Given the description of an element on the screen output the (x, y) to click on. 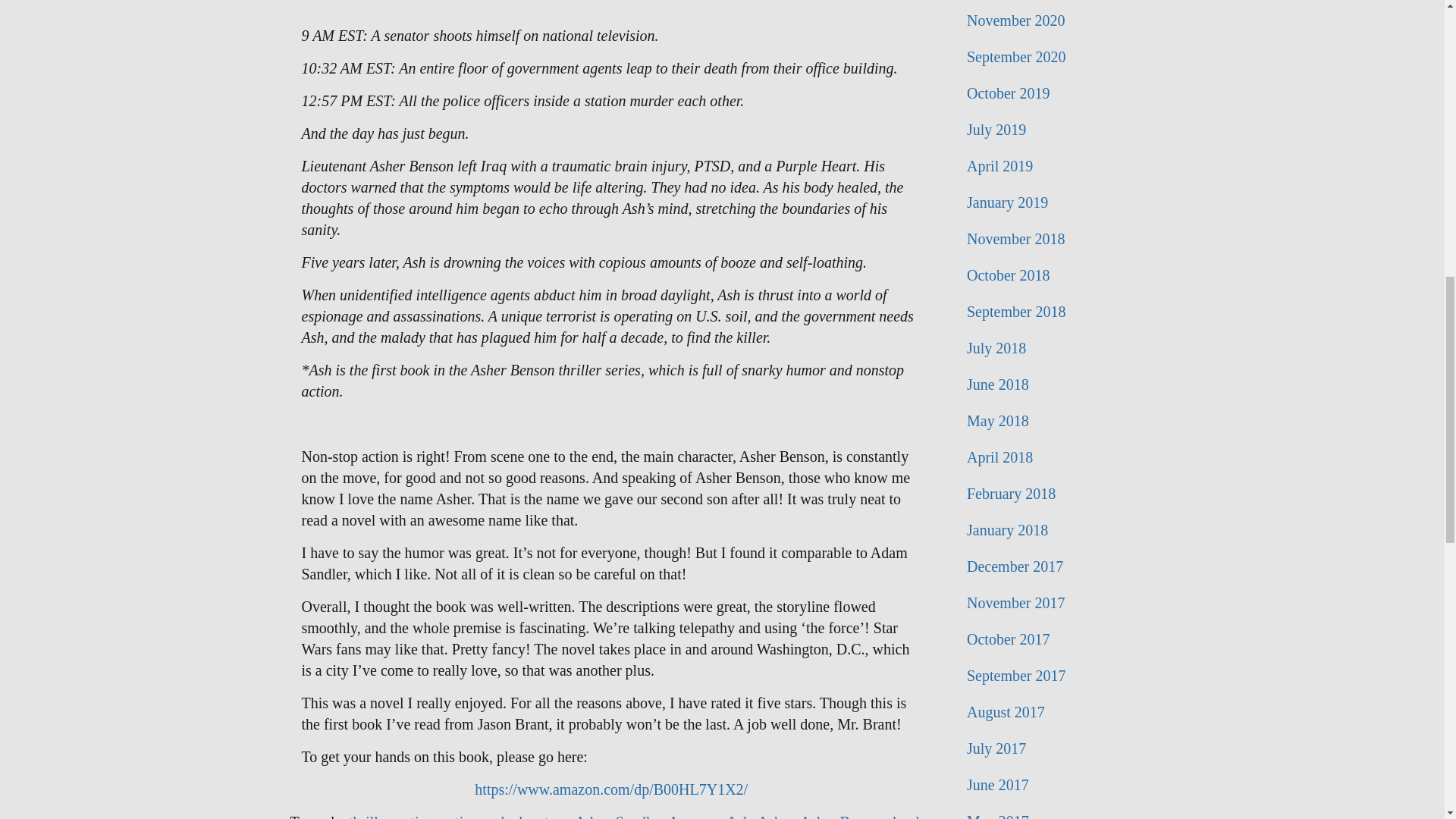
April 2019 (1054, 166)
book (907, 816)
November 2022 (1054, 1)
January 2019 (1054, 202)
action (415, 816)
Amazon (693, 816)
Adam Sandler (618, 816)
action and adventure (504, 816)
Asher Benson (842, 816)
September 2020 (1054, 56)
July 2019 (1054, 129)
November 2020 (1054, 20)
a thriller (363, 816)
Ash (738, 816)
Asher (775, 816)
